Given the description of an element on the screen output the (x, y) to click on. 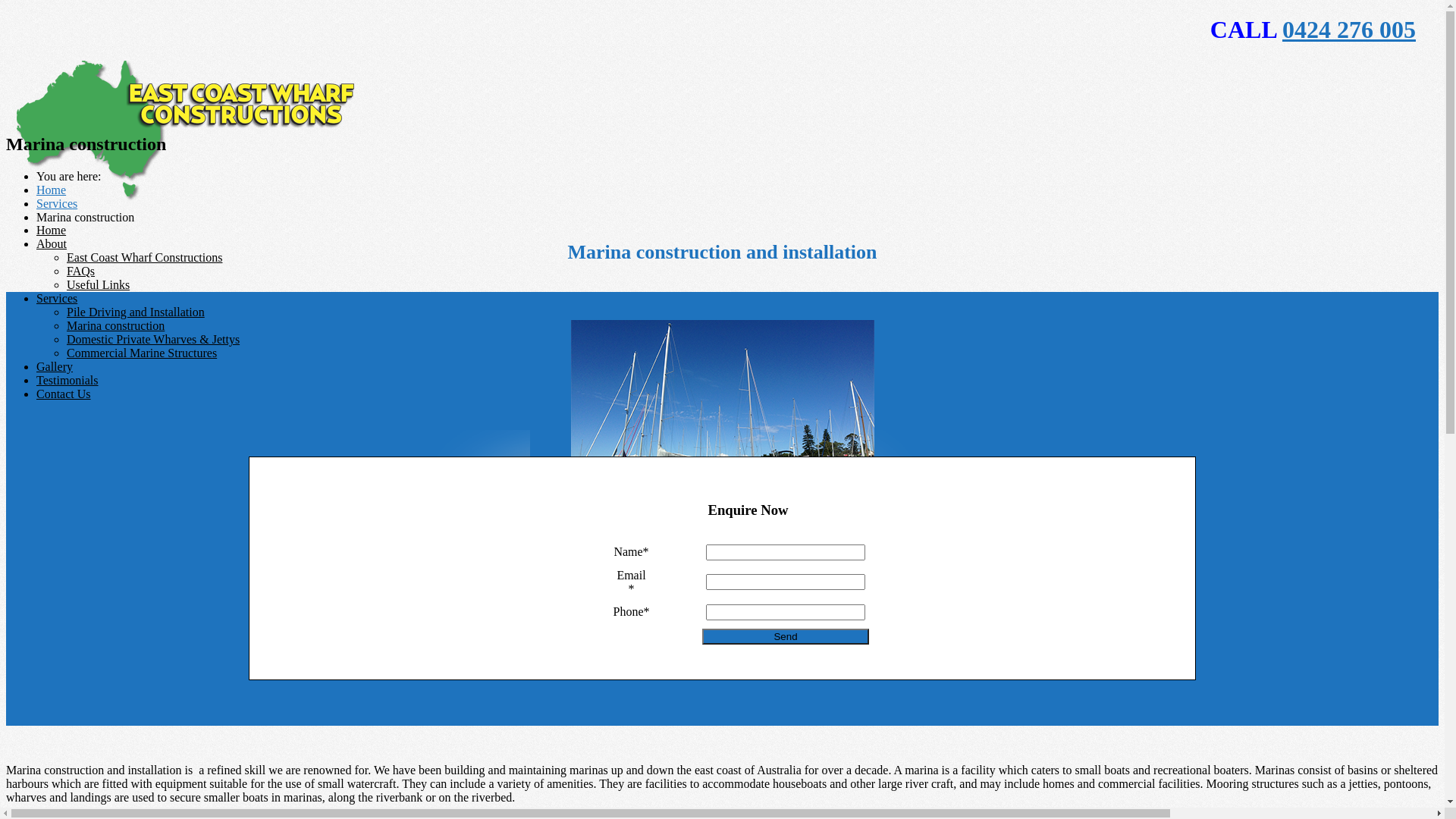
Services Element type: text (56, 297)
Useful Links Element type: text (97, 284)
Home Element type: text (50, 189)
Contact Us Element type: text (63, 393)
0424 276 005 Element type: text (1348, 29)
About Element type: text (51, 243)
East Coast Wharf Constructions Element type: text (144, 257)
Services Element type: text (56, 203)
Marina construction Element type: text (115, 325)
Commercial Marine Structures Element type: text (141, 352)
FAQs Element type: text (80, 270)
Send Element type: text (785, 636)
Pile Driving and Installation Element type: text (135, 311)
Gallery Element type: text (54, 366)
Domestic Private Wharves & Jettys Element type: text (152, 338)
Testimonials Element type: text (67, 379)
Home Element type: text (50, 229)
